Given the description of an element on the screen output the (x, y) to click on. 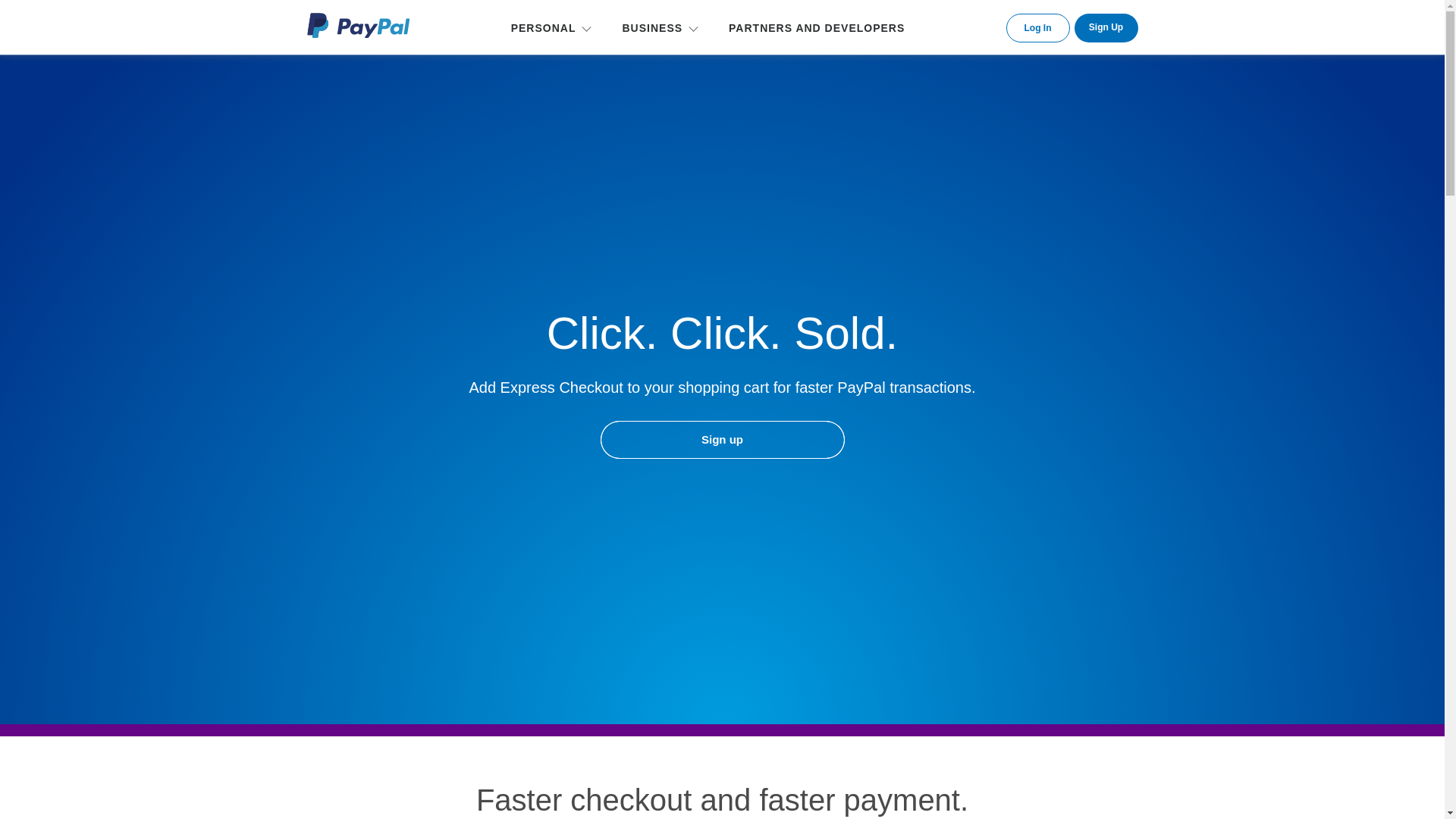
Sign Up (1105, 27)
PayPal Logo (357, 25)
BUSINESS (654, 27)
Log In (1037, 27)
PERSONAL (547, 27)
PARTNERS AND DEVELOPERS (816, 27)
Sign up (721, 439)
